Given the description of an element on the screen output the (x, y) to click on. 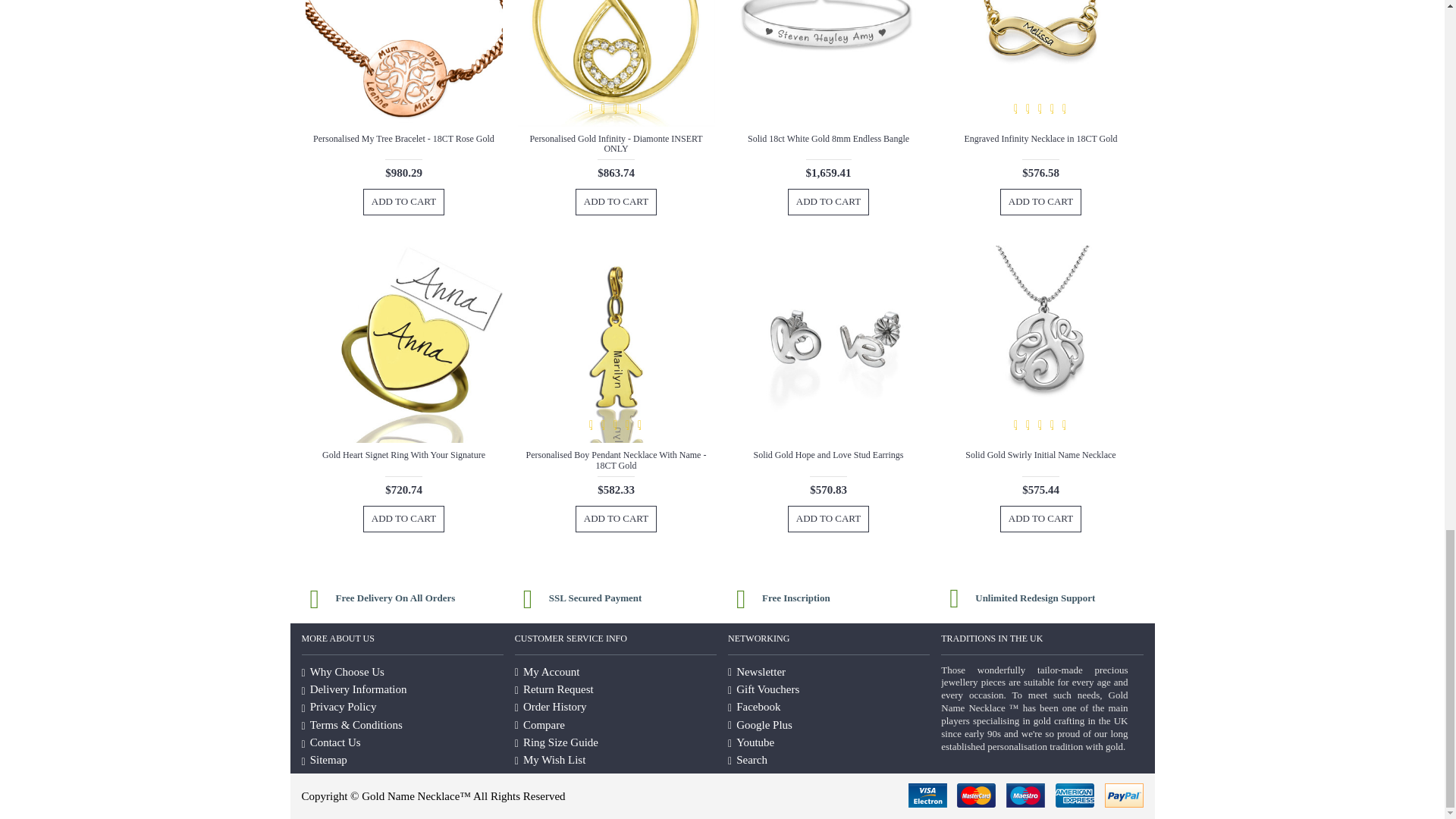
Solid 18ct White Gold 8mm Endless Bangle (827, 63)
Personalised Gold Infinity - Diamonte INSERT ONLY (615, 63)
Solid Gold Hope and Love Stud Earrings (827, 344)
Solid Gold Swirly Initial Name Necklace (1040, 344)
Gold Heart Signet Ring With Your Signature (403, 344)
Personalised My Tree Bracelet - 18CT Rose Gold (403, 63)
Personalised Boy Pendant Necklace With Name - 18CT Gold (615, 344)
Engraved Infinity Necklace in 18CT Gold (1040, 63)
